Given the description of an element on the screen output the (x, y) to click on. 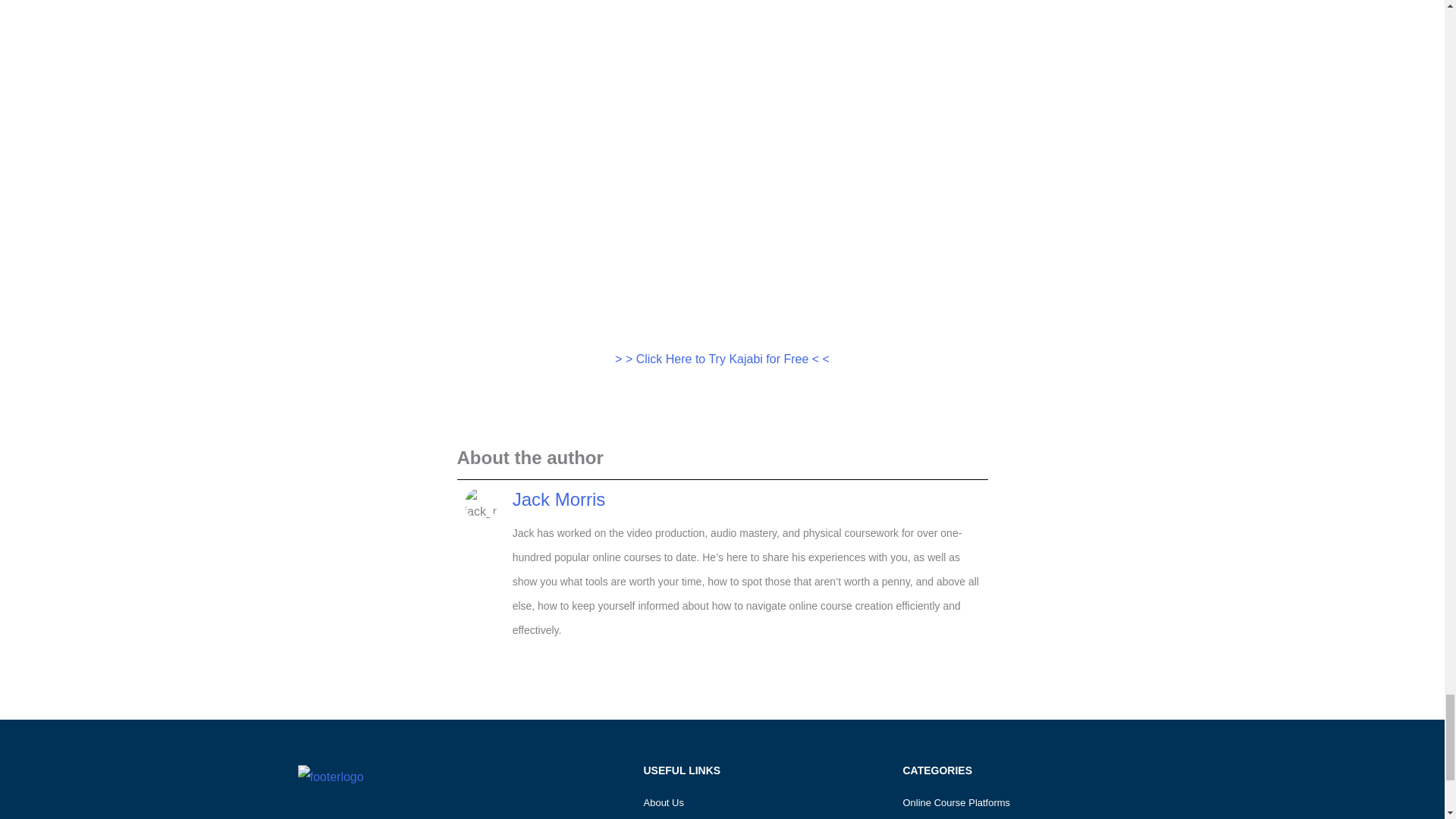
Jack Morris (558, 498)
